Given the description of an element on the screen output the (x, y) to click on. 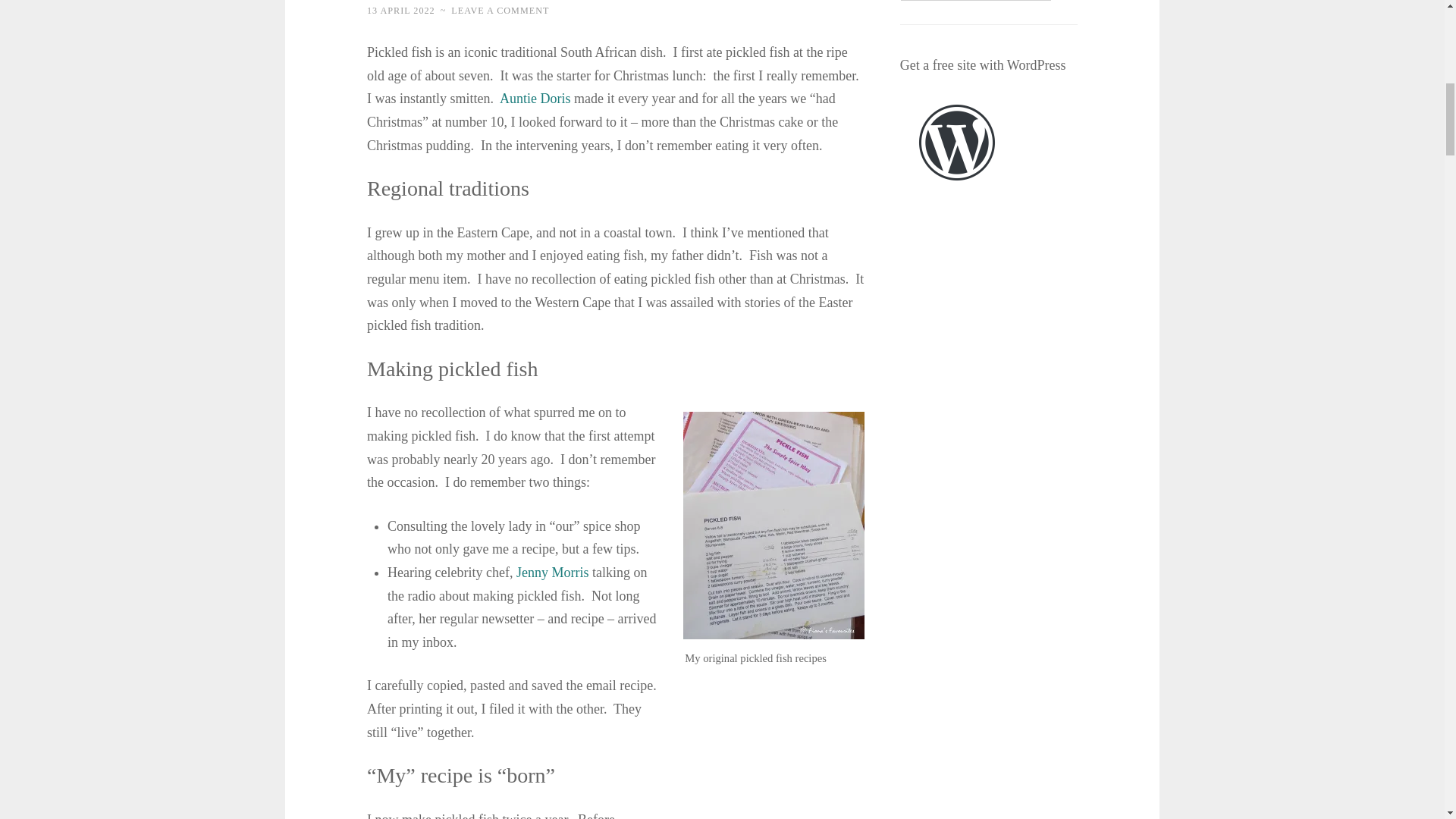
LEAVE A COMMENT (499, 9)
Jenny Morris (552, 572)
13 APRIL 2022 (400, 9)
Auntie Doris (534, 98)
